Given the description of an element on the screen output the (x, y) to click on. 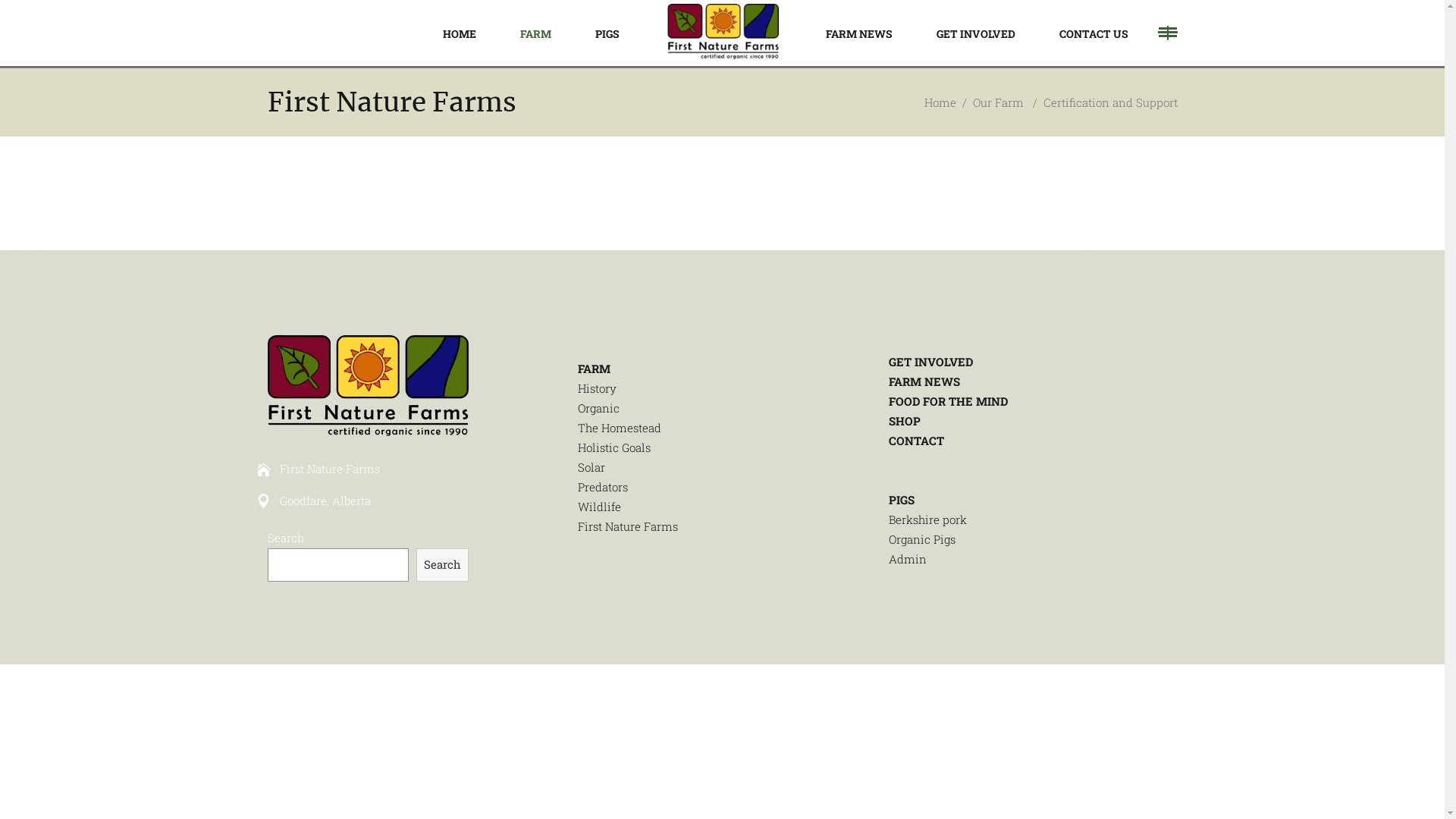
Solar Element type: text (591, 466)
HOME Element type: text (458, 32)
FARM NEWS Element type: text (858, 32)
First Nature Farms Element type: text (627, 525)
Holistic Goals Element type: text (613, 447)
History Element type: text (596, 387)
The Homestead Element type: text (619, 427)
PIGS Element type: text (901, 499)
FARM Element type: text (593, 368)
Search Element type: text (442, 564)
Organic Pigs Element type: text (921, 538)
Berkshire pork Element type: text (927, 519)
Home Element type: text (939, 102)
FOOD FOR THE MIND Element type: text (947, 400)
Admin Element type: text (907, 557)
FARM NEWS Element type: text (924, 381)
PIGS Element type: text (607, 32)
Organic Element type: text (598, 407)
CONTACT Element type: text (916, 440)
SHOP Element type: text (904, 420)
GET INVOLVED Element type: text (975, 32)
Predators Element type: text (602, 486)
CONTACT US Element type: text (1093, 32)
FARM Element type: text (534, 32)
GET INVOLVED Element type: text (930, 361)
Our Farm Element type: text (997, 102)
Wildlife Element type: text (599, 506)
